Given the description of an element on the screen output the (x, y) to click on. 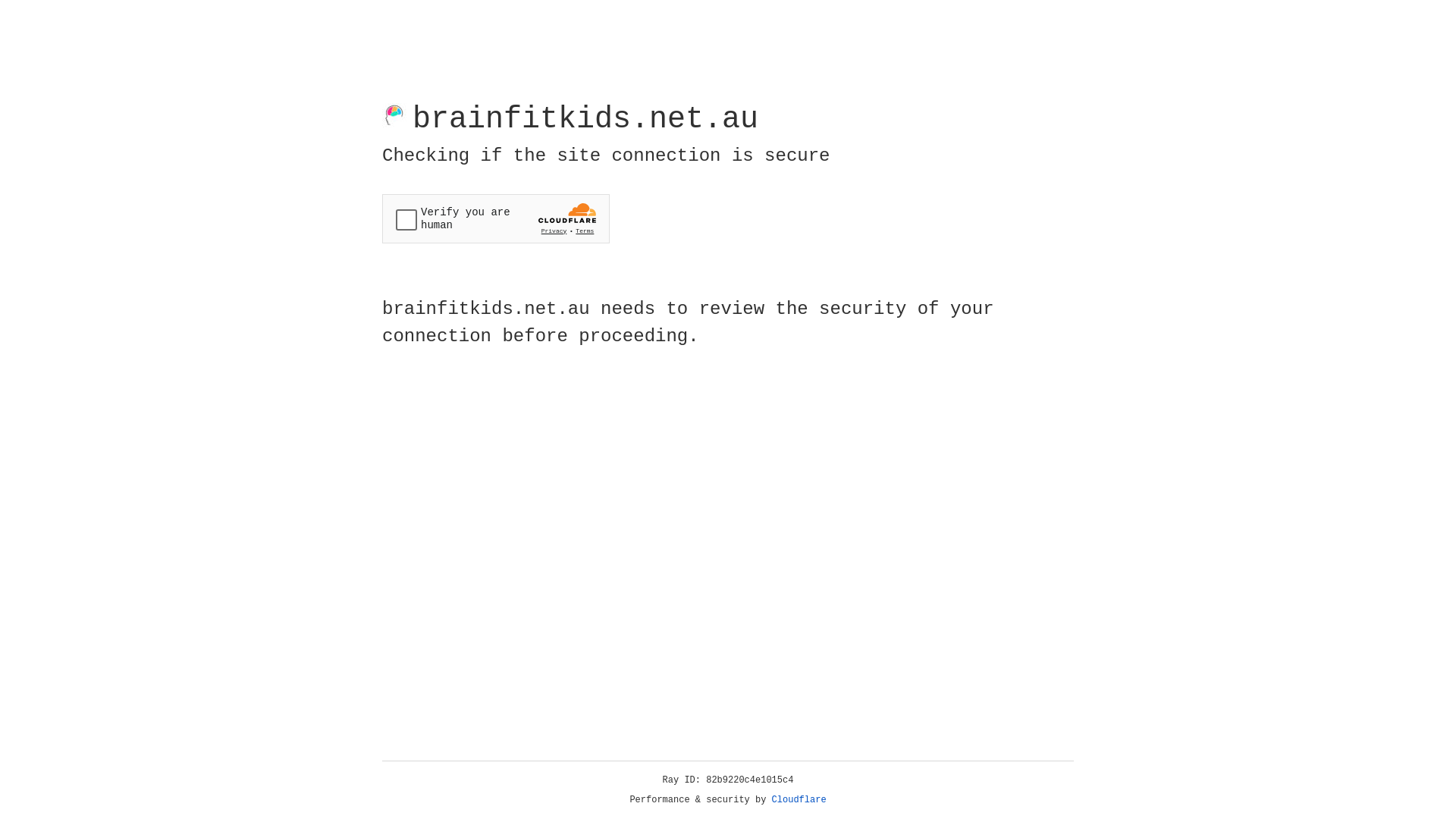
Cloudflare Element type: text (798, 799)
Widget containing a Cloudflare security challenge Element type: hover (495, 218)
